Given the description of an element on the screen output the (x, y) to click on. 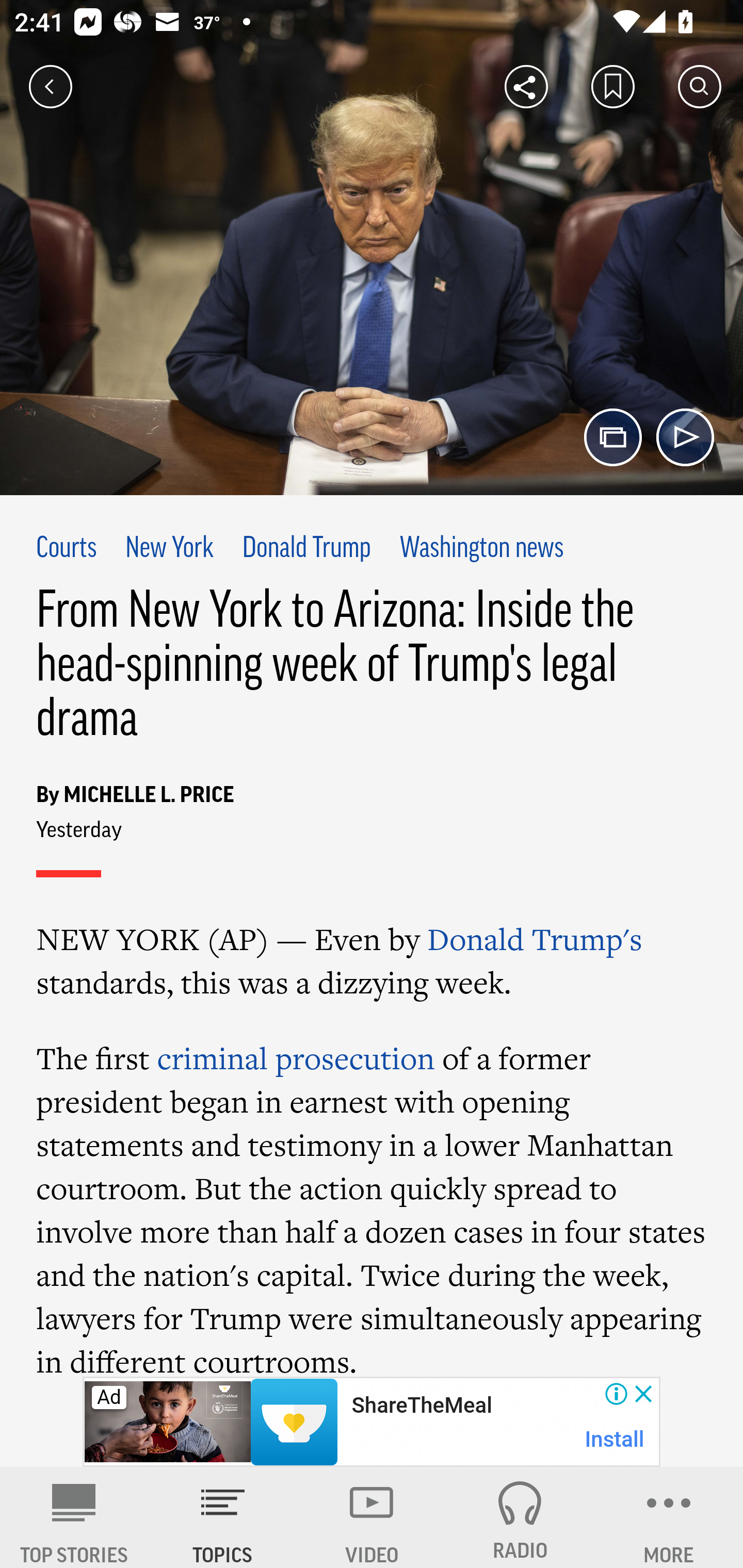
Courts (66, 549)
New York (169, 549)
Donald Trump (307, 549)
Washington news (481, 549)
Donald Trump's (534, 939)
criminal prosecution (294, 1058)
ShareTheMeal (420, 1405)
Install (614, 1438)
AP News TOP STORIES (74, 1517)
TOPICS (222, 1517)
VIDEO (371, 1517)
RADIO (519, 1517)
MORE (668, 1517)
